Given the description of an element on the screen output the (x, y) to click on. 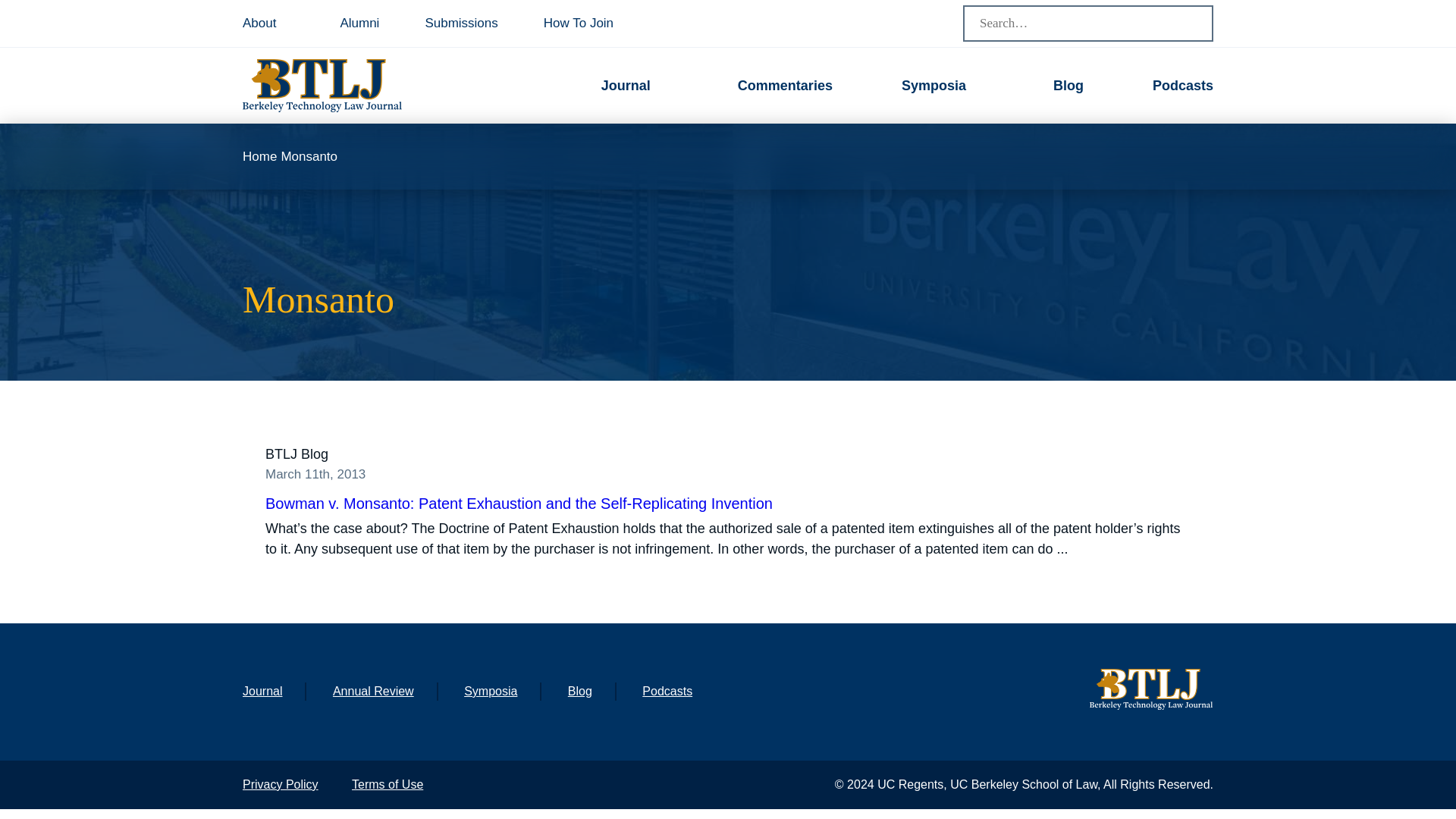
Alumni (358, 23)
Annual Review (373, 690)
How To Join (577, 23)
Submissions (461, 23)
Home (259, 156)
Symposia (490, 690)
Commentaries (785, 85)
Journal (262, 690)
Privacy Policy (280, 784)
Terms of Use (387, 784)
Blog (579, 690)
About (259, 23)
Podcasts (667, 690)
